Given the description of an element on the screen output the (x, y) to click on. 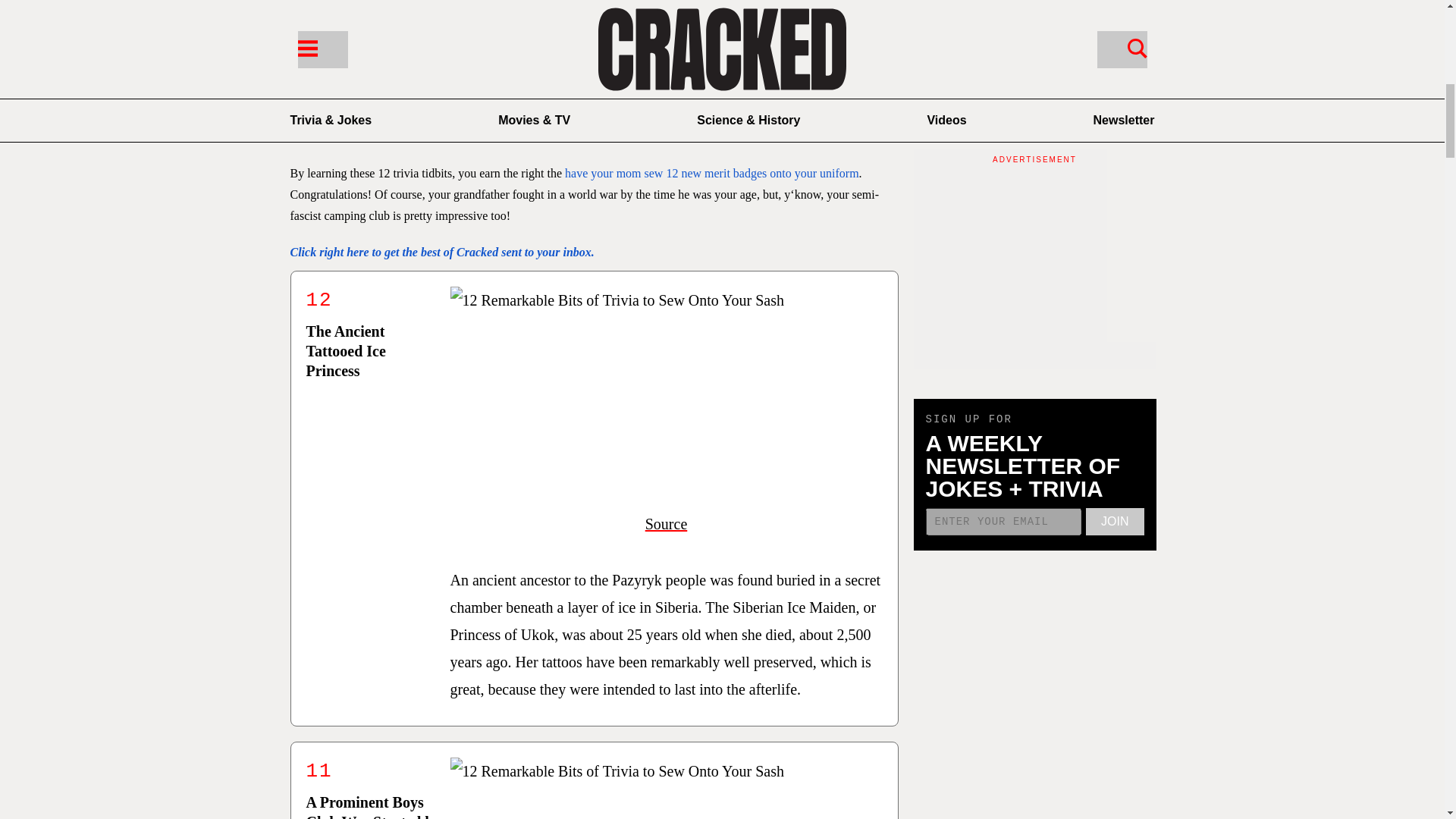
Source (666, 523)
Jesse (388, 109)
 have your mom sew 12 new merit badges onto your uniform (710, 173)
